Given the description of an element on the screen output the (x, y) to click on. 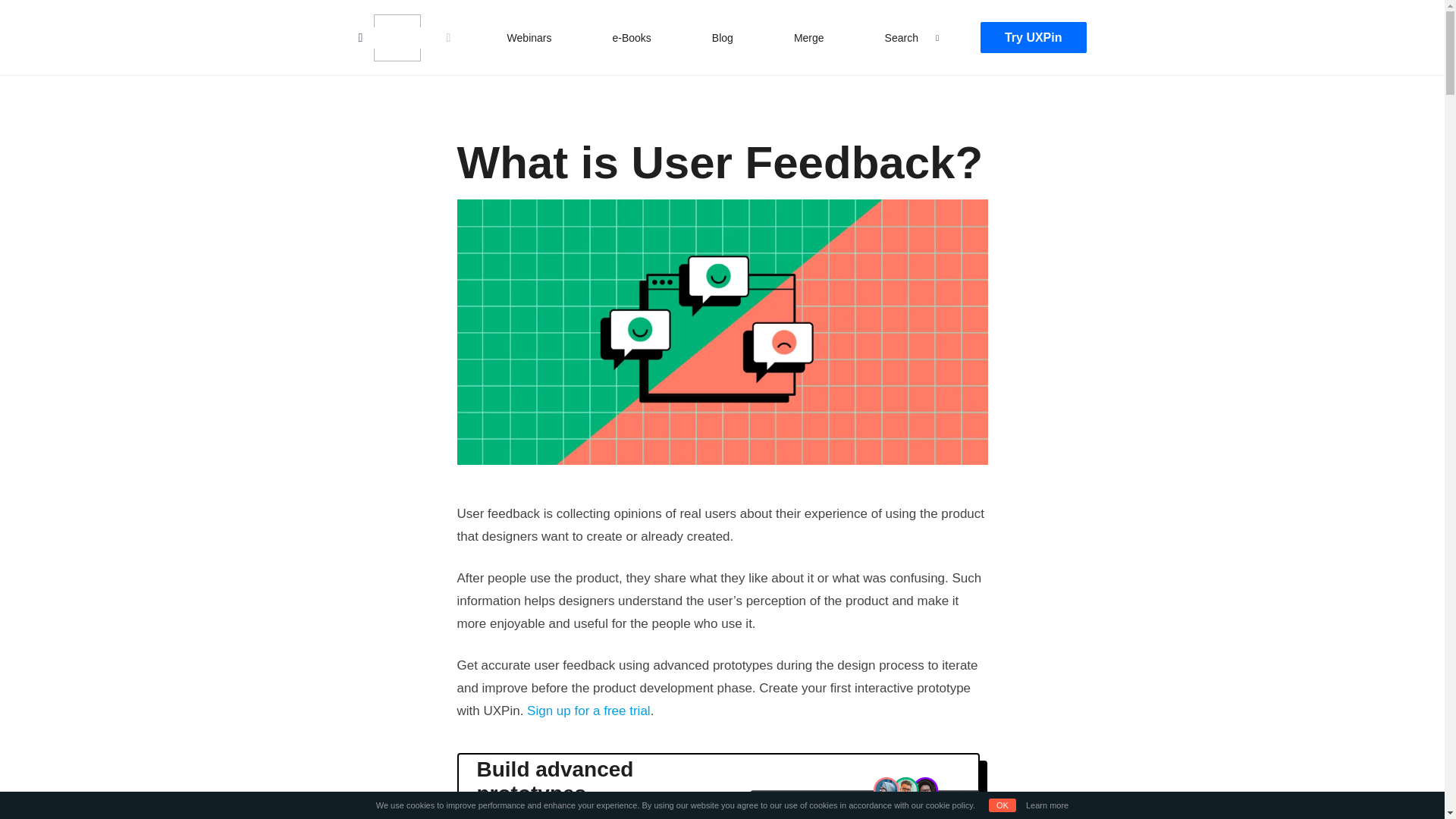
Blog (722, 37)
Merge (808, 37)
Studio by UXPin (396, 37)
Webinars (529, 37)
Try UXPin (1032, 37)
Studio by UXPin (396, 37)
Search (901, 37)
Sign up for a free trial (588, 710)
e-Books (631, 37)
Search (27, 13)
